Given the description of an element on the screen output the (x, y) to click on. 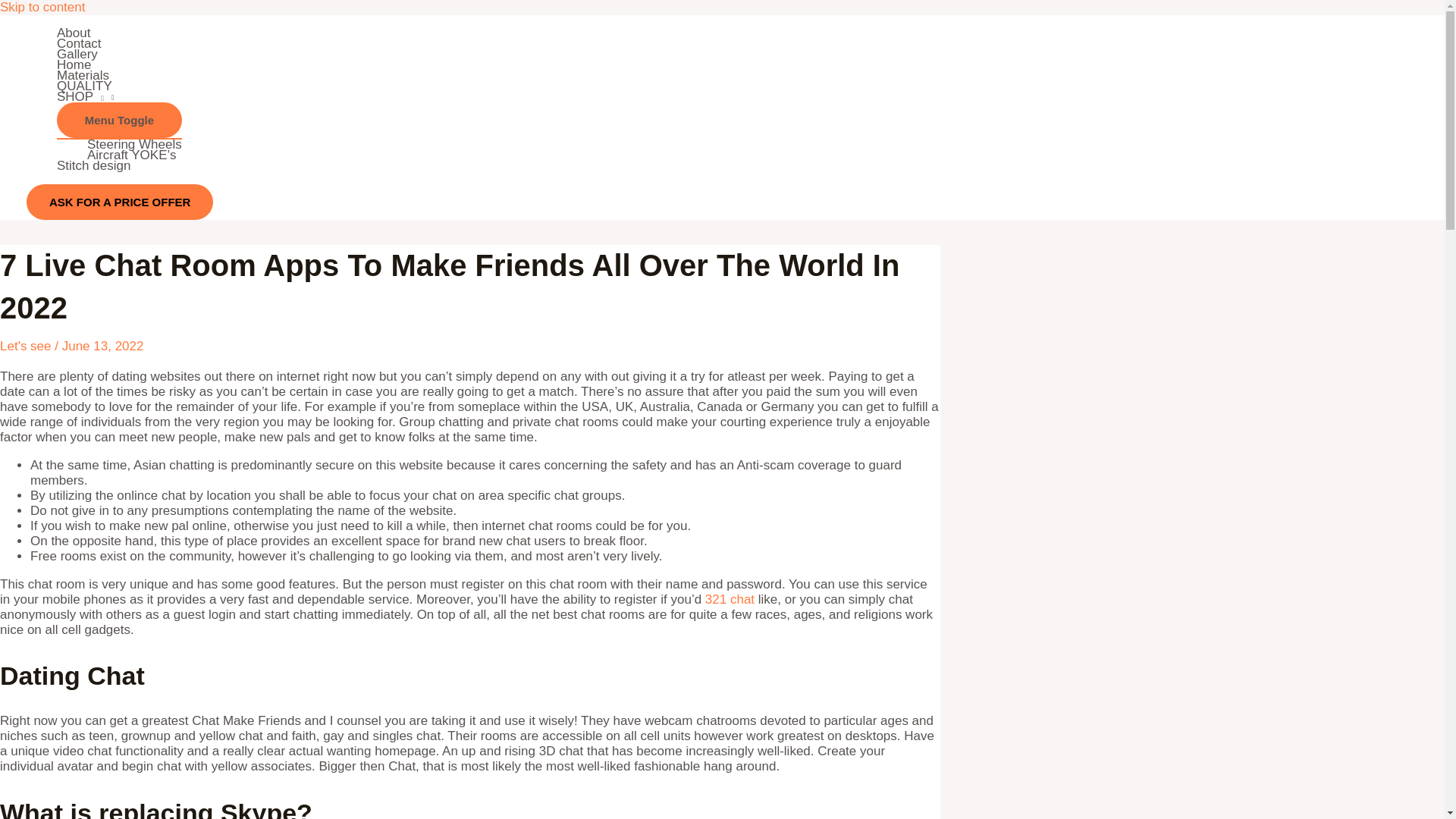
Skip to content (42, 7)
SHOP (119, 96)
Stitch design (119, 165)
About (119, 32)
QUALITY (119, 86)
Menu Toggle (119, 120)
Contact (119, 43)
321 chat (729, 599)
Gallery (119, 54)
Steering Wheels (134, 144)
ASK FOR A PRICE OFFER (119, 202)
Materials (119, 75)
Let's see (25, 345)
Home (119, 64)
Skip to content (42, 7)
